Given the description of an element on the screen output the (x, y) to click on. 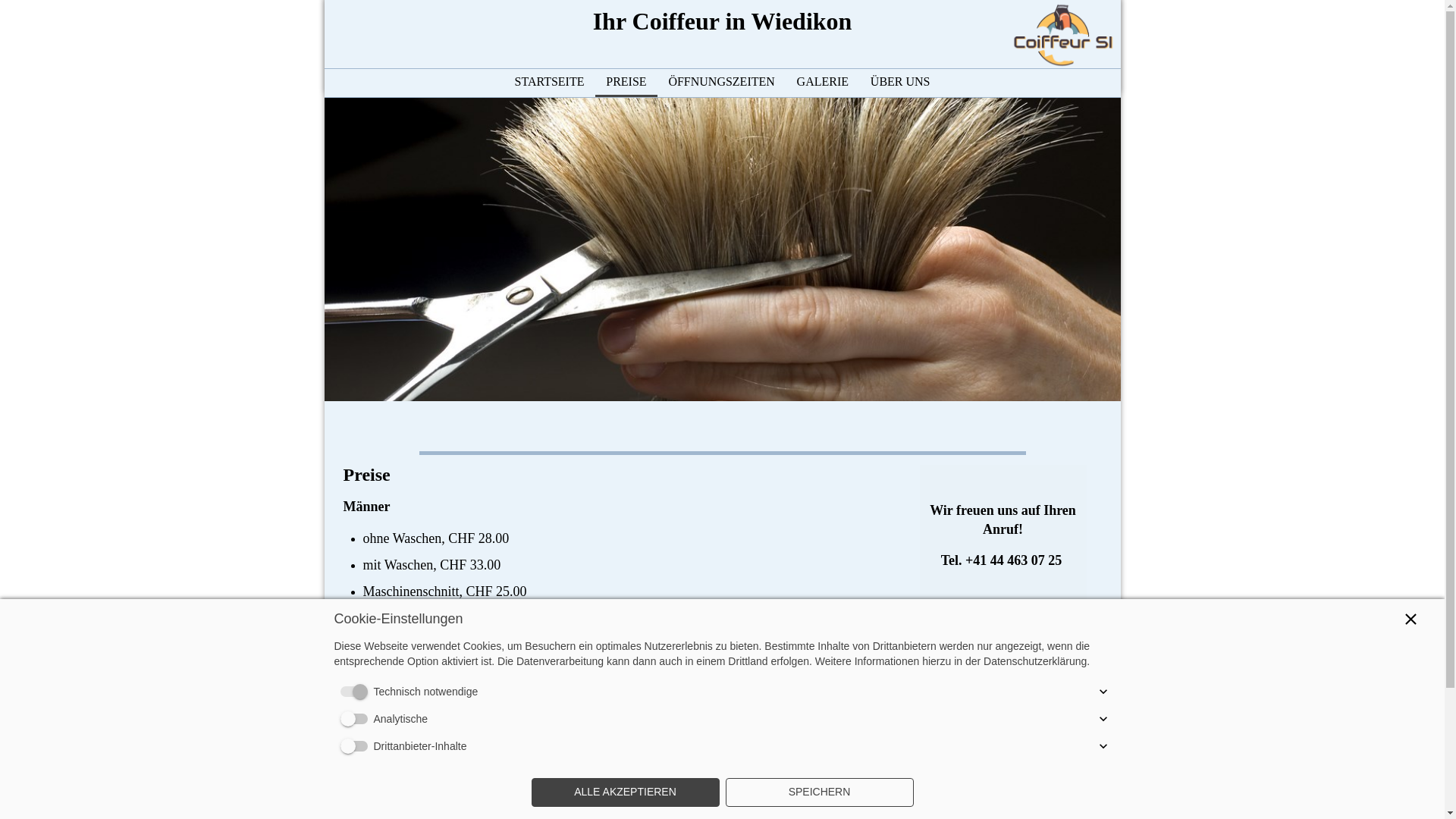
SPEICHERN Element type: text (818, 792)
PREISE Element type: text (626, 81)
ALLE AKZEPTIEREN Element type: text (624, 792)
STARTSEITE Element type: text (549, 81)
GALERIE Element type: text (822, 81)
  Element type: text (1063, 7)
